Given the description of an element on the screen output the (x, y) to click on. 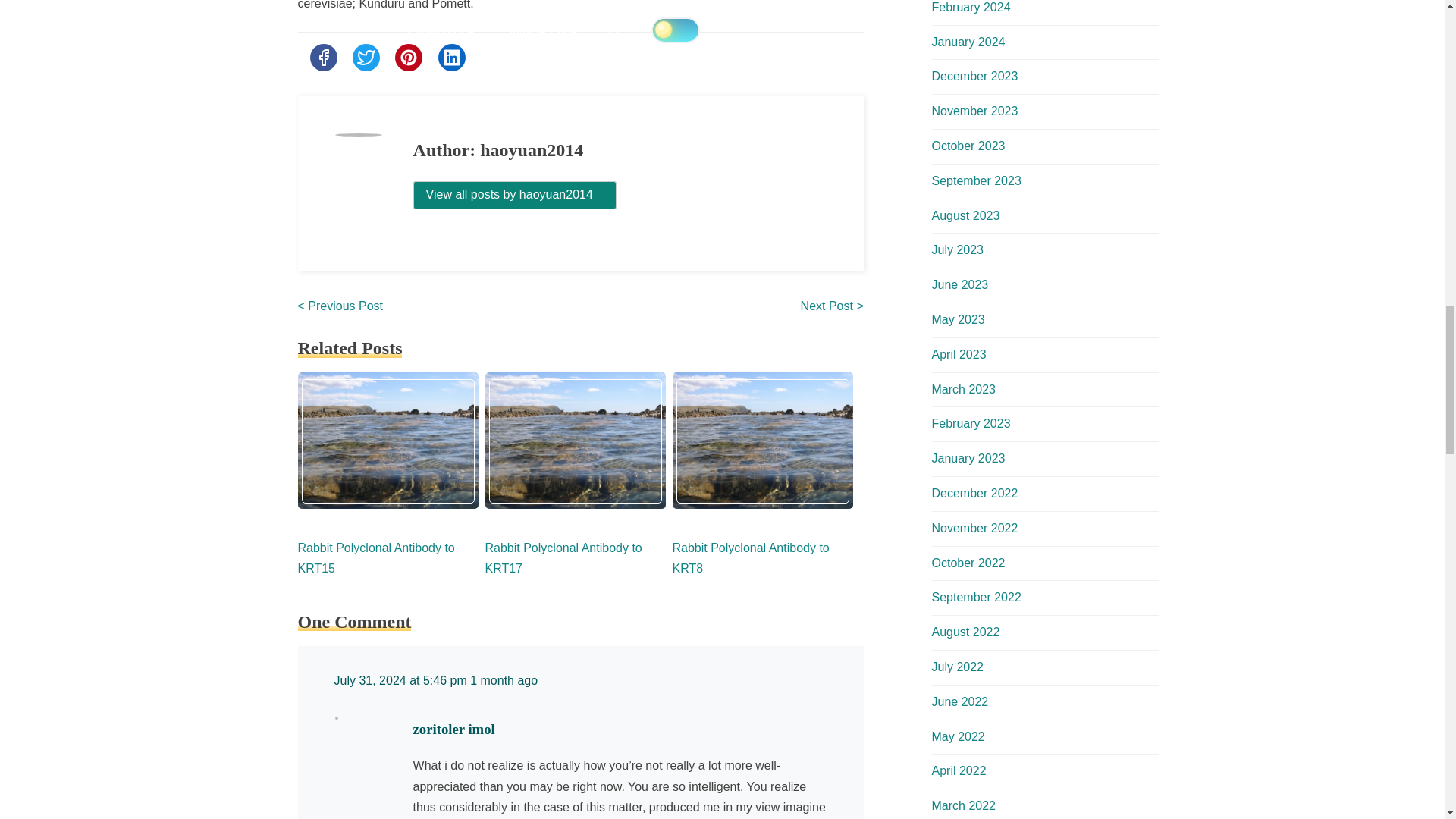
View all posts by haoyuan2014 (514, 194)
View all posts by haoyuan2014 (515, 194)
Rabbit Polyclonal Antibody to KRT17 (563, 557)
Share this post on Facebook (322, 57)
zoritoler imol (454, 729)
Share this post on Twitter (366, 57)
Share this post on Linkedin (451, 57)
Rabbit Polyclonal Antibody to KRT8 (749, 557)
Rabbit Polyclonal Antibody to KRT15 (375, 557)
Share this post on Pinterest (408, 57)
